Given the description of an element on the screen output the (x, y) to click on. 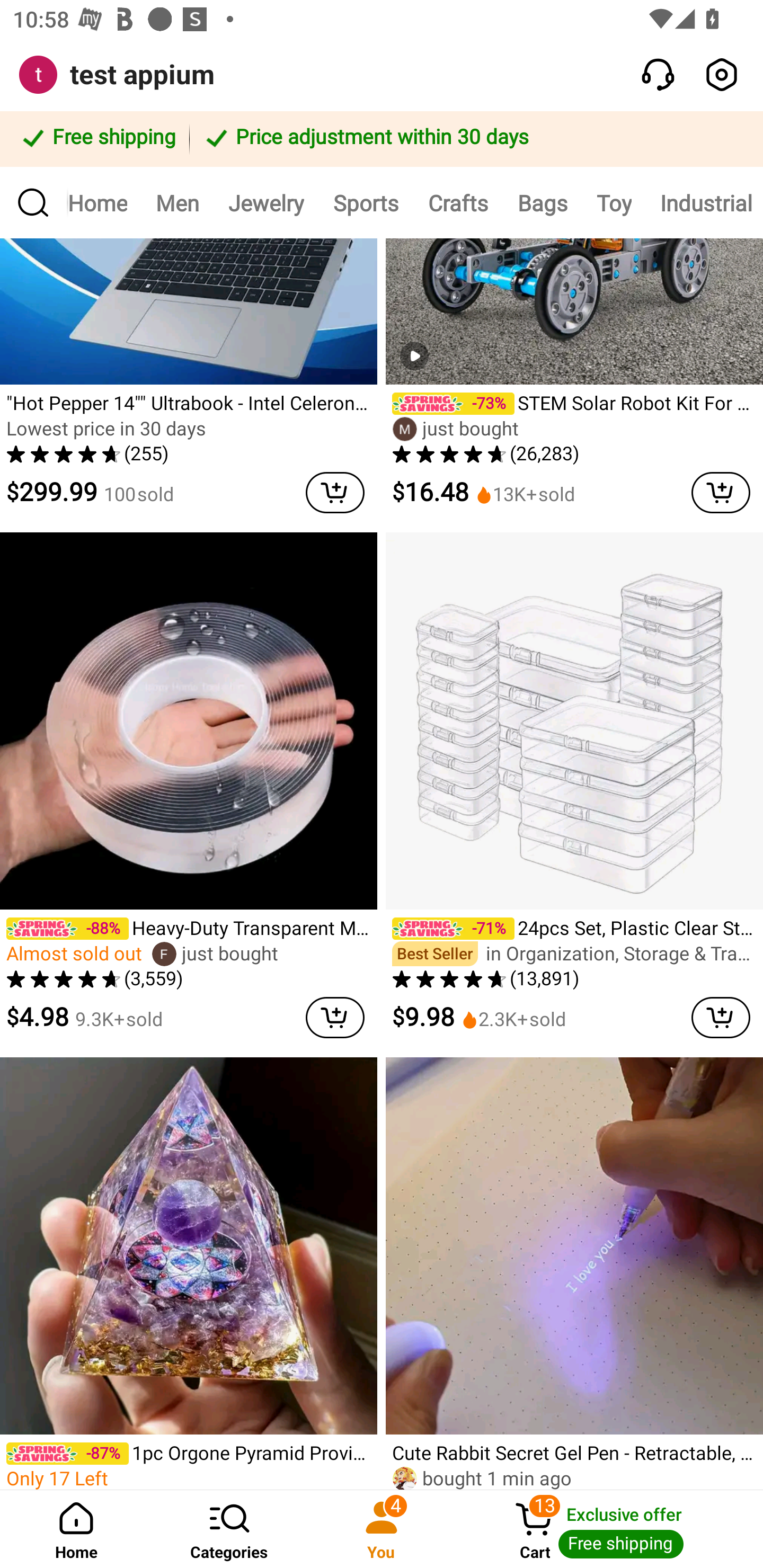
test appium (142, 74)
Free shipping (97, 138)
Price adjustment within 30 days (472, 138)
Home (104, 202)
Men (177, 202)
Jewelry (265, 202)
Sports (365, 202)
Crafts (457, 202)
Bags (541, 202)
Toy (613, 202)
Industrial (704, 202)
cart delete (334, 491)
cart delete (720, 491)
cart delete (334, 1017)
cart delete (720, 1017)
Home (76, 1528)
Categories (228, 1528)
You 4 You (381, 1528)
Cart 13 Cart Exclusive offer (610, 1528)
